Given the description of an element on the screen output the (x, y) to click on. 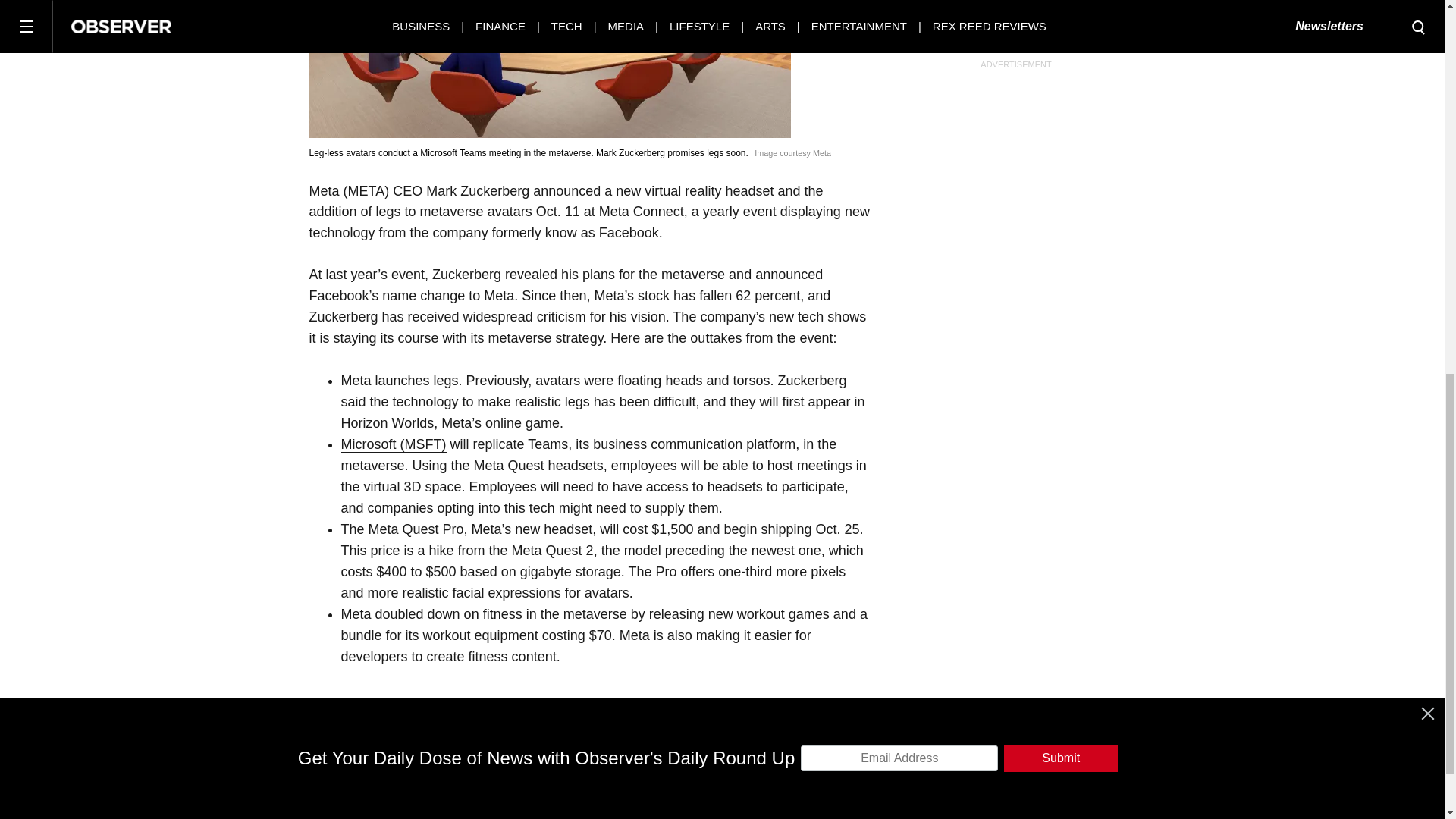
Mark Zuckerberg (477, 191)
3rd party ad content (1015, 2)
3rd party ad content (721, 42)
Microsoft (393, 444)
Meta (349, 191)
